Given the description of an element on the screen output the (x, y) to click on. 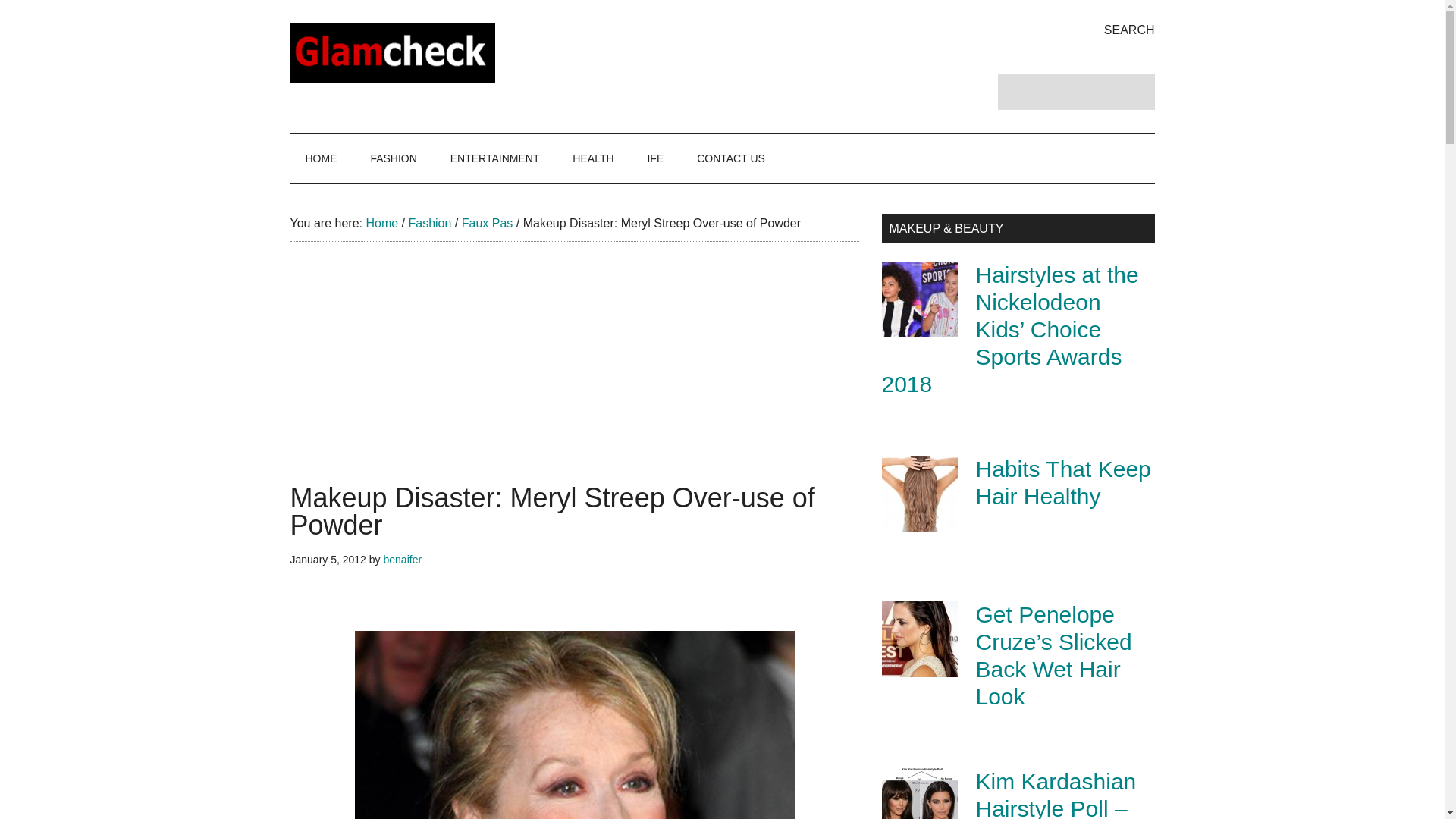
benaifer (402, 559)
IFE (654, 158)
HOME (320, 158)
Fashion (429, 223)
Entertainment (494, 158)
ENTERTAINMENT (494, 158)
Home (381, 223)
Advertisement (574, 377)
FASHION (392, 158)
HEALTH (592, 158)
Faux Pas (487, 223)
